Given the description of an element on the screen output the (x, y) to click on. 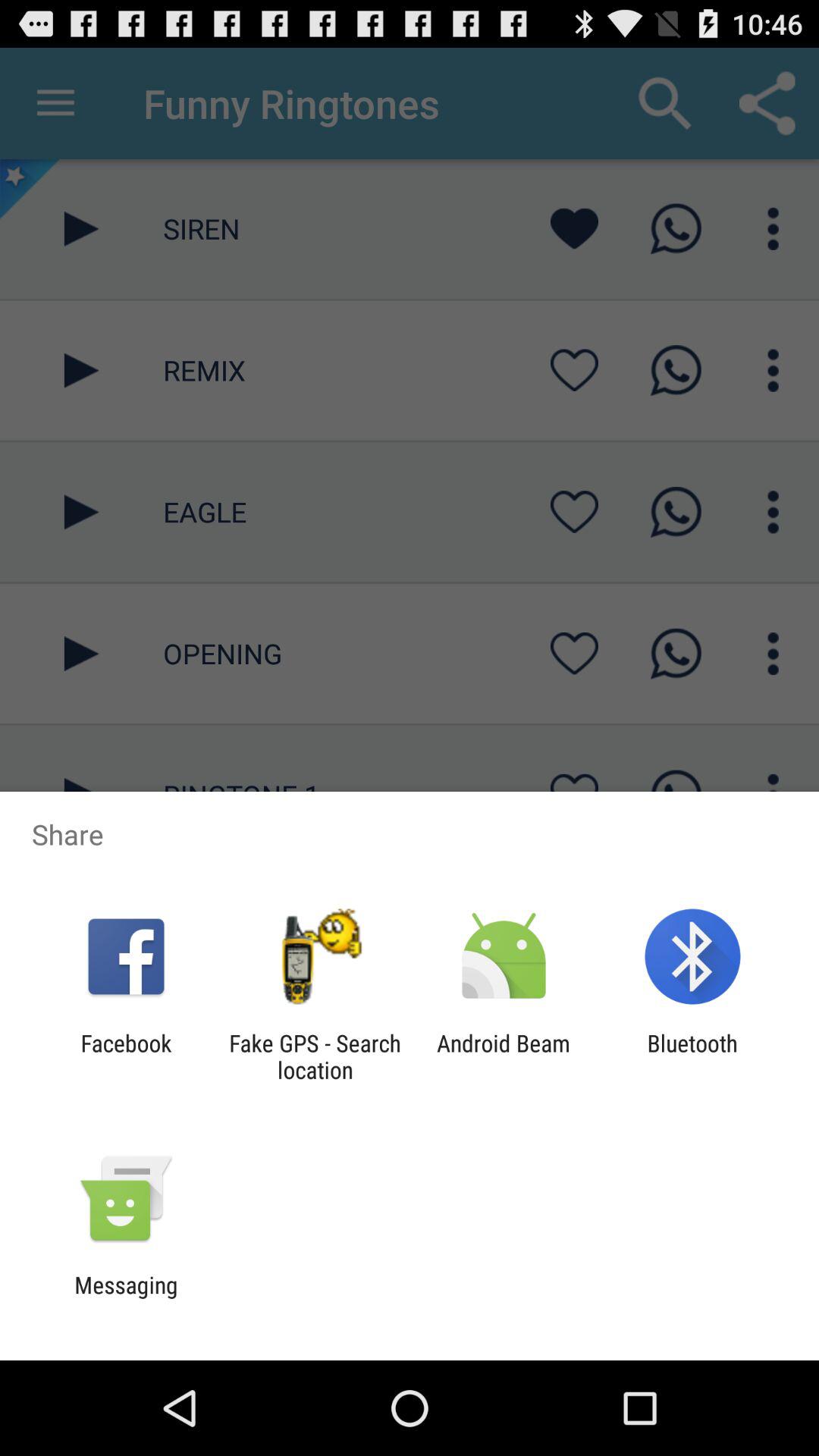
turn off the facebook app (125, 1056)
